Given the description of an element on the screen output the (x, y) to click on. 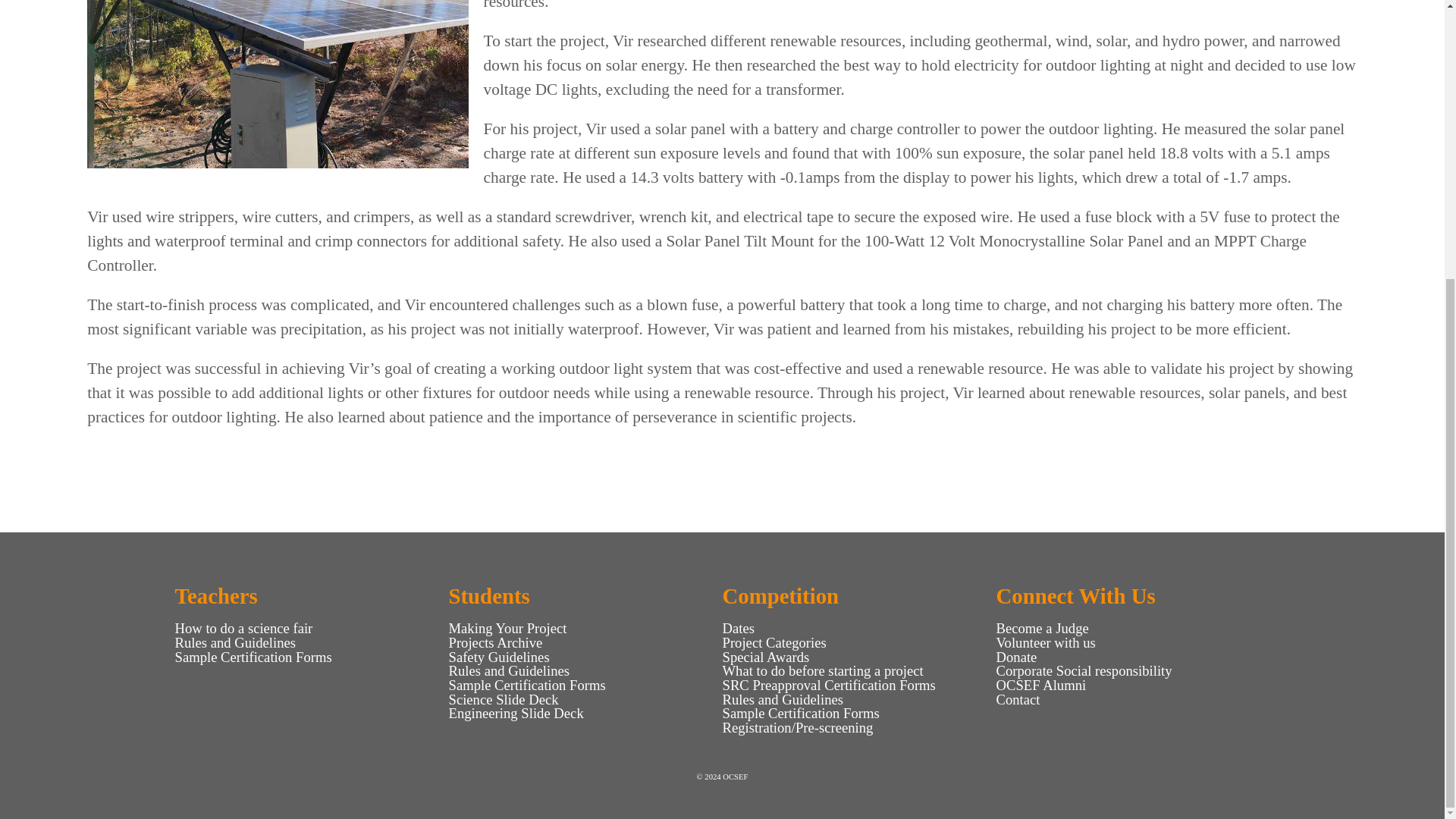
Rules and Guidelines (509, 670)
Sample Certification Forms (252, 657)
How to do a science fair (243, 627)
Safety Guidelines (499, 657)
Rules and Guidelines (234, 642)
Making Your Project (507, 627)
Projects Archive (495, 642)
